Given the description of an element on the screen output the (x, y) to click on. 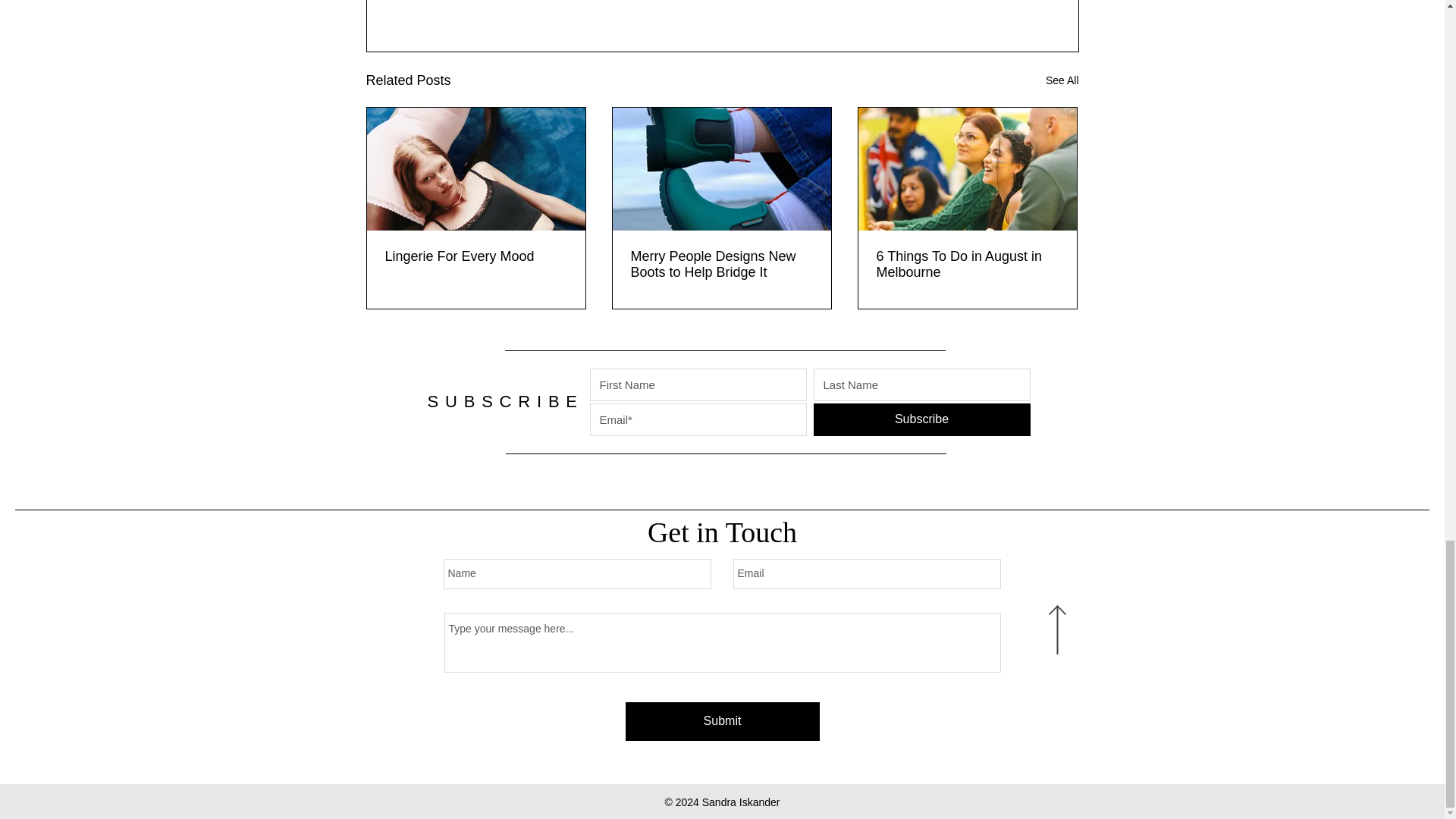
Submit (721, 721)
Merry People Designs New Boots to Help Bridge It (721, 264)
6 Things To Do in August in Melbourne (967, 264)
Subscribe (920, 419)
See All (1061, 80)
Lingerie For Every Mood (476, 256)
